Given the description of an element on the screen output the (x, y) to click on. 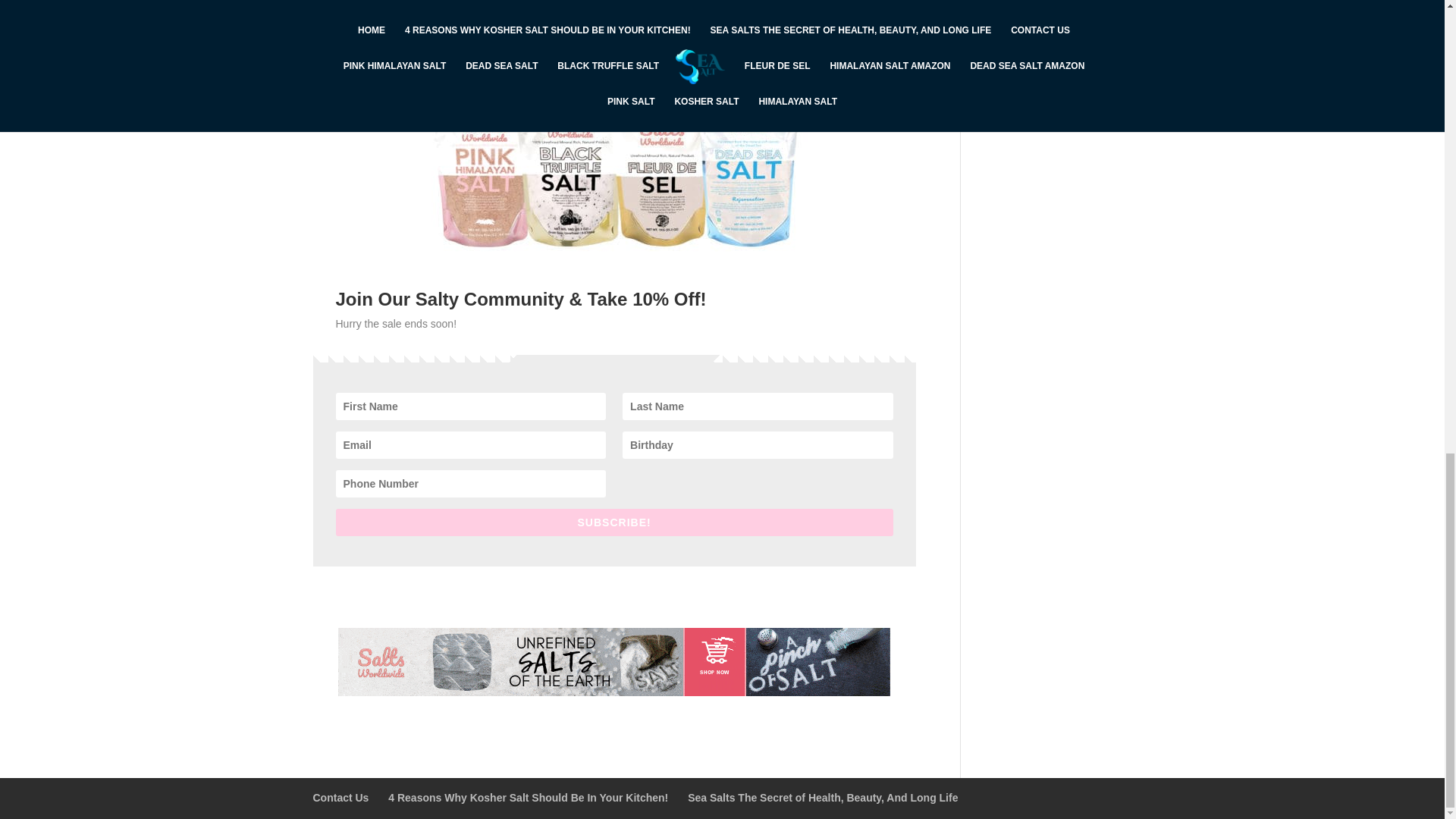
Contact Us (340, 797)
SUBSCRIBE! (613, 522)
Sea Salts The Secret of Health, Beauty, And Long Life (822, 797)
4 Reasons Why Kosher Salt Should Be In Your Kitchen! (528, 797)
